Given the description of an element on the screen output the (x, y) to click on. 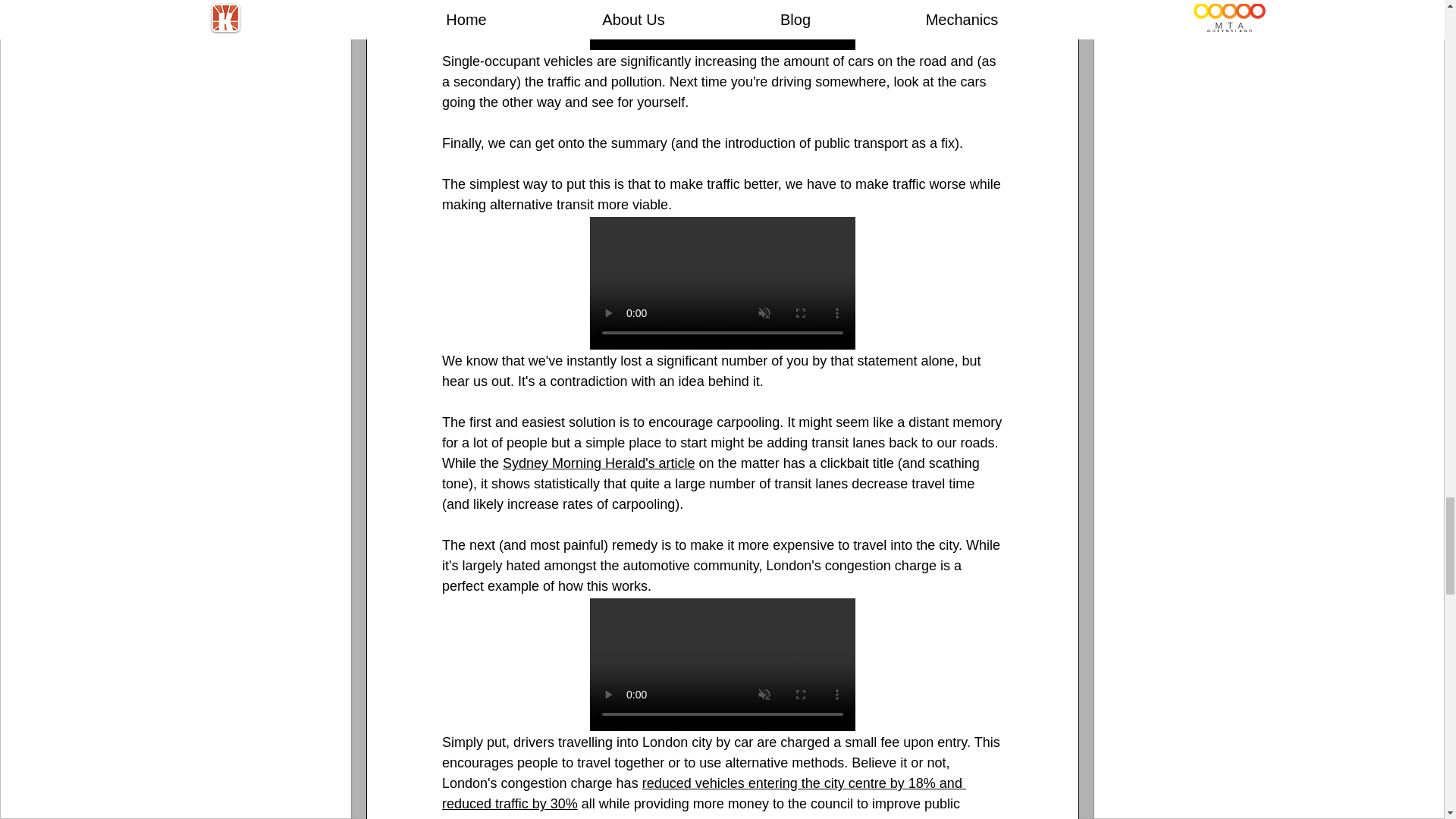
Sydney Morning Herald's article (598, 462)
